Given the description of an element on the screen output the (x, y) to click on. 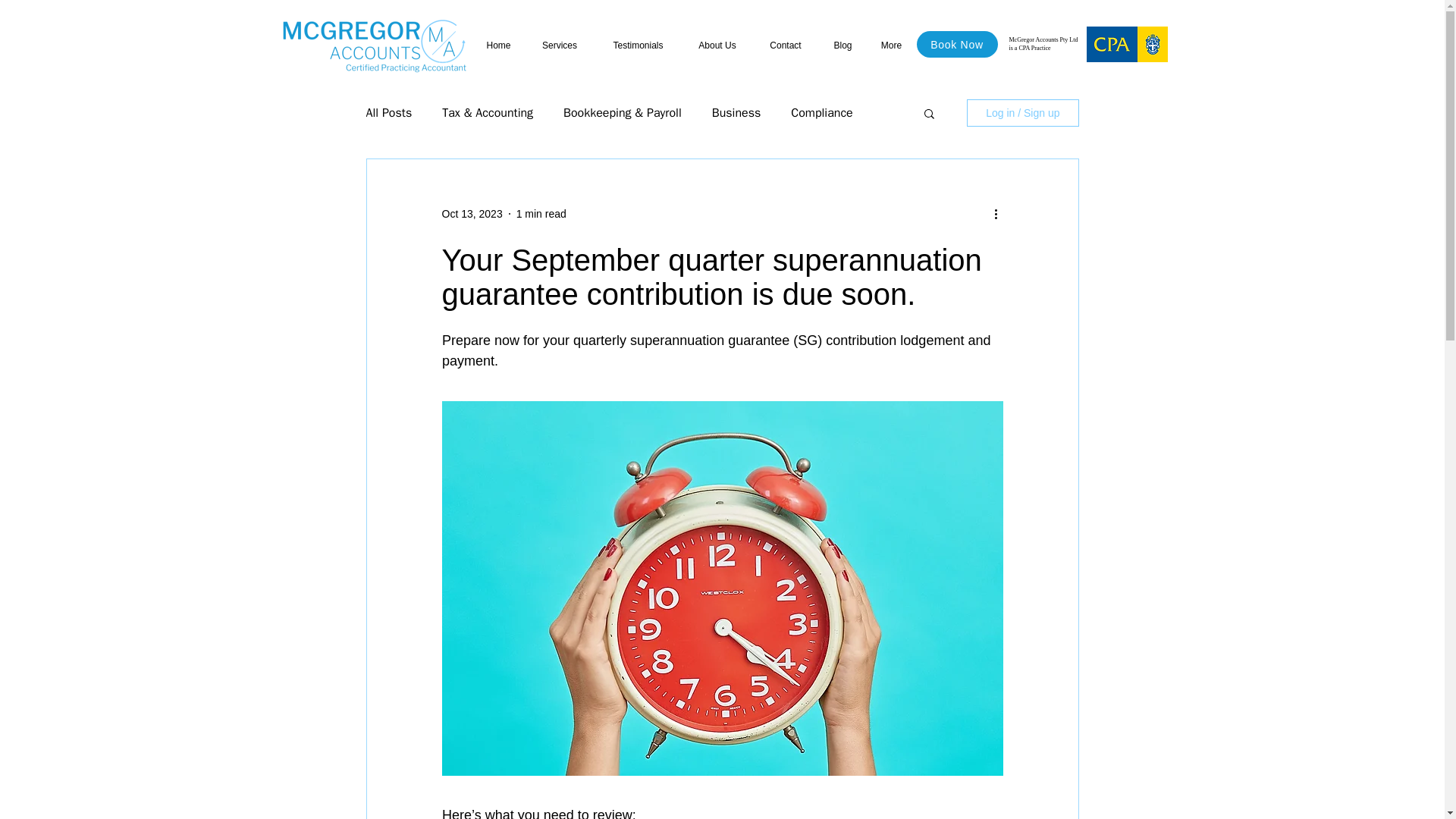
Book Now (956, 44)
1 min read (541, 214)
Business (736, 112)
All Posts (388, 112)
Compliance (820, 112)
About Us (716, 45)
Home (498, 45)
Blog (842, 45)
Oct 13, 2023 (471, 214)
Testimonials (637, 45)
